Given the description of an element on the screen output the (x, y) to click on. 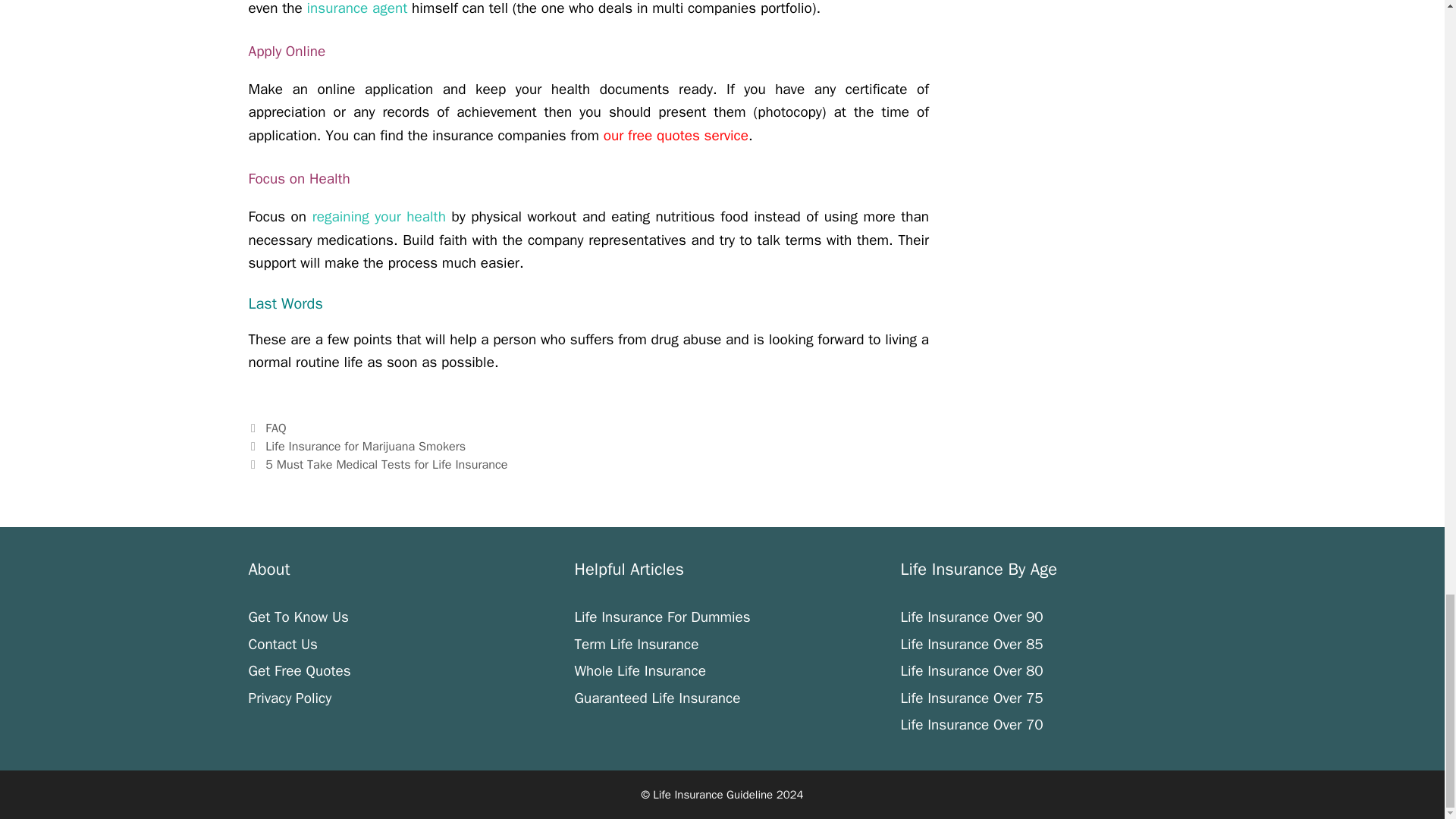
Next (378, 464)
Whole Life Insurance (638, 670)
5 Must Take Medical Tests for Life Insurance (385, 464)
Life Insurance Over 85 (970, 644)
Get Free Quotes (299, 670)
Get To Know Us (298, 617)
regaining your health (379, 217)
Privacy Policy (289, 698)
Life Insurance Over 90 (970, 617)
Term Life Insurance (635, 644)
Life Insurance For Dummies (661, 617)
Life Insurance for Marijuana Smokers (364, 446)
Contact Us (282, 644)
Guaranteed Life Insurance (656, 698)
insurance agent (357, 8)
